Given the description of an element on the screen output the (x, y) to click on. 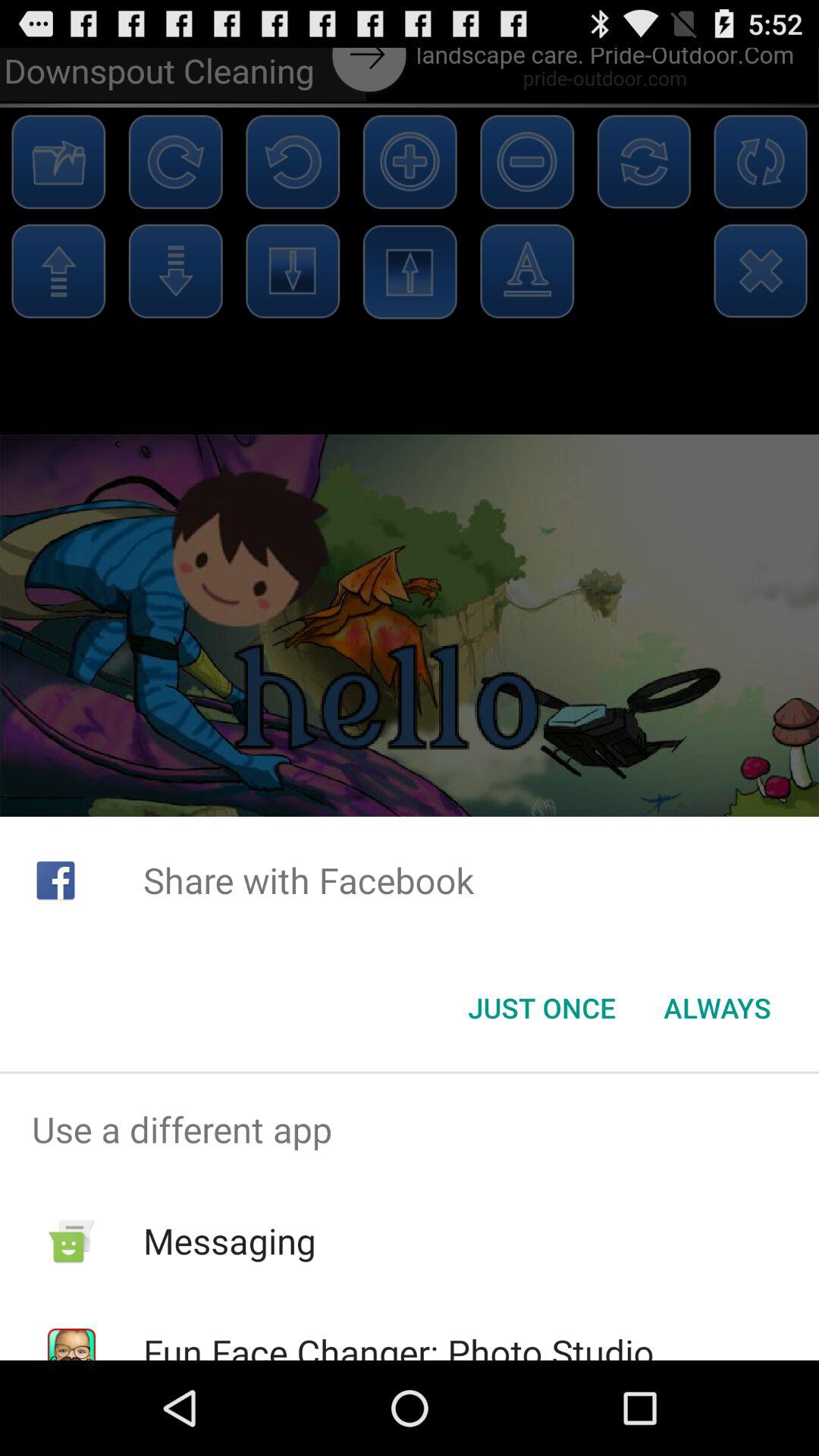
press the app below share with facebook item (717, 1007)
